Given the description of an element on the screen output the (x, y) to click on. 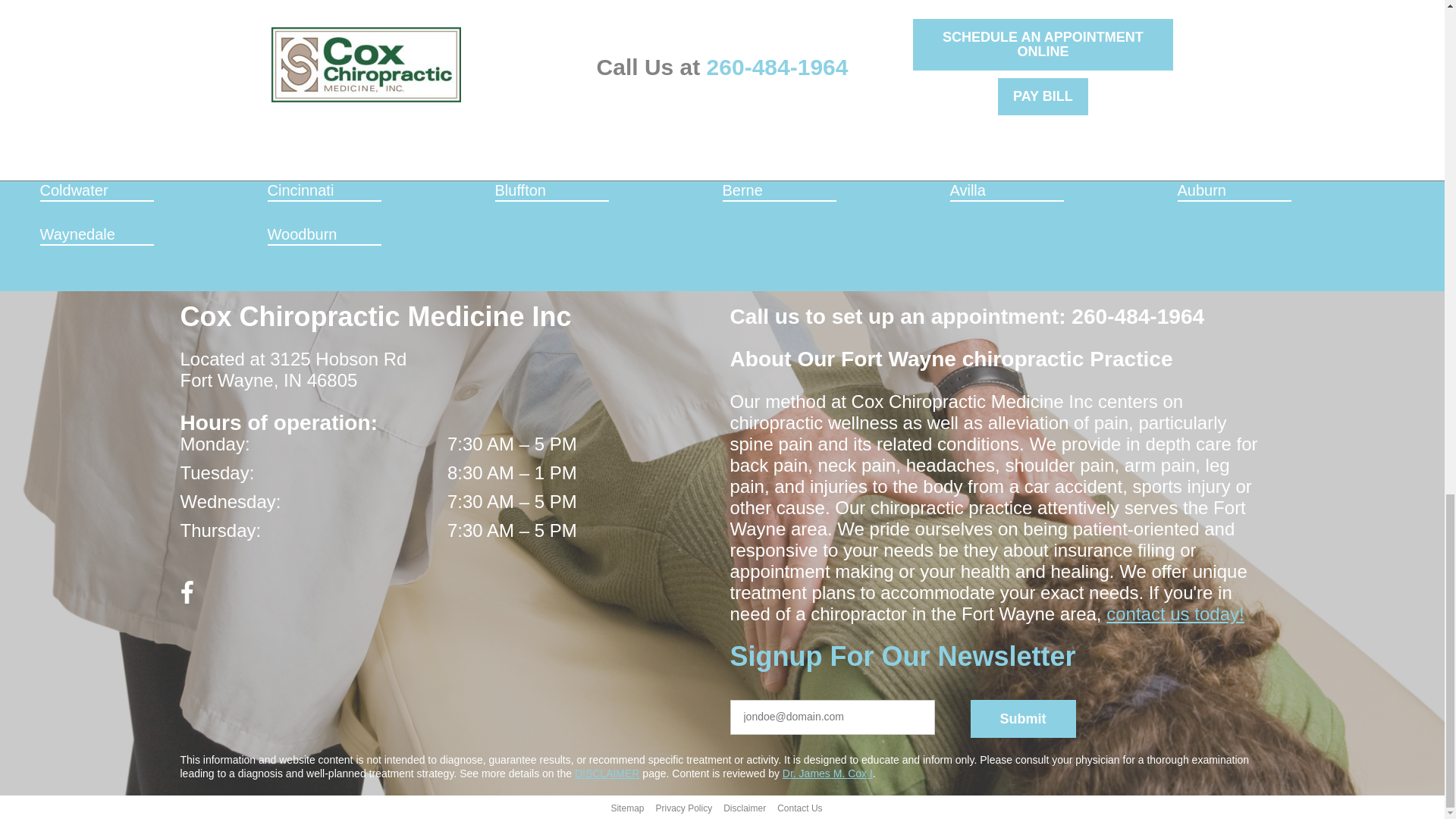
applesauce (743, 716)
